Given the description of an element on the screen output the (x, y) to click on. 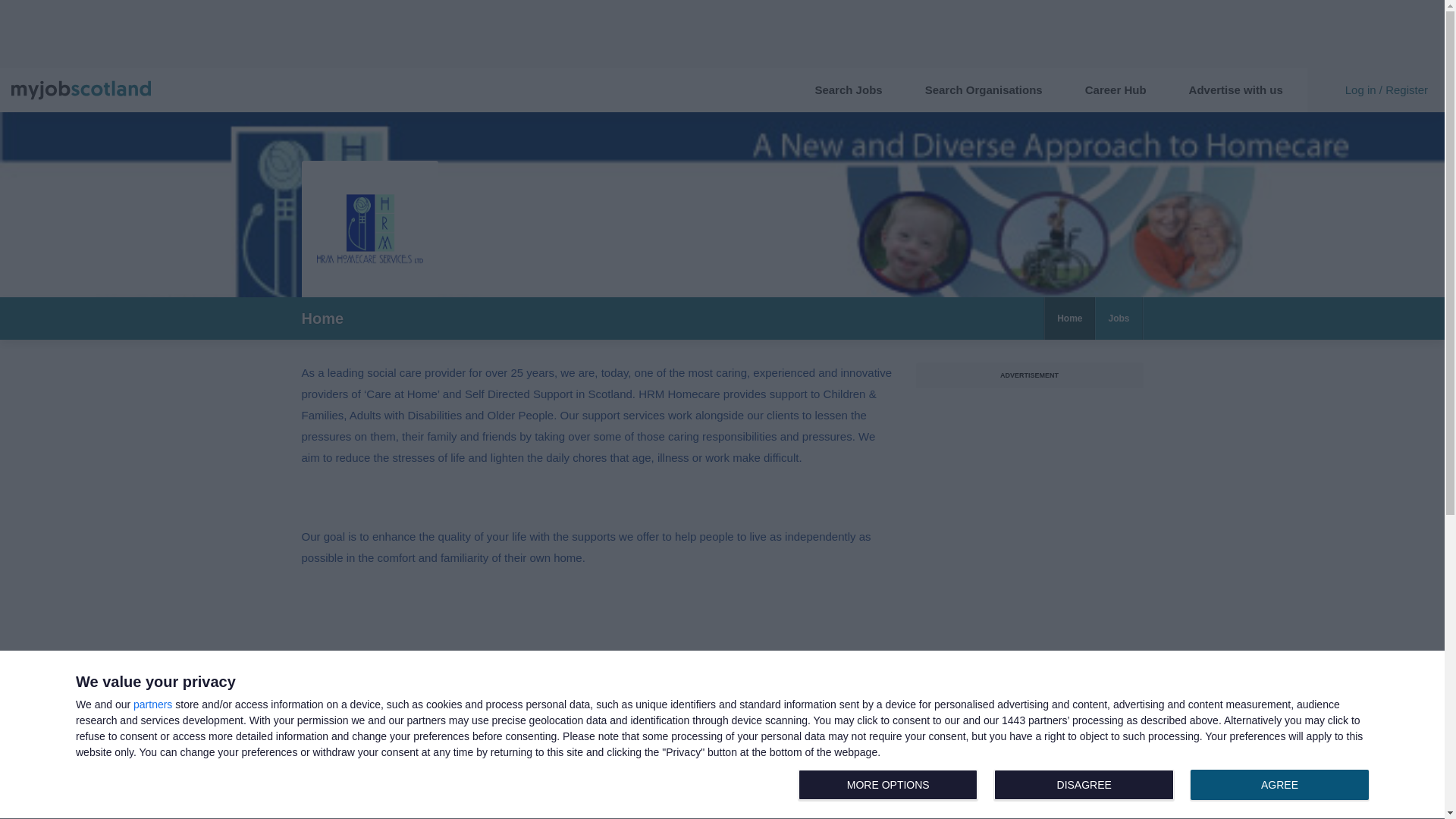
Search Organisations (987, 89)
Jobs (1117, 318)
partners (152, 704)
Search Jobs (850, 89)
DISAGREE (1083, 784)
MORE OPTIONS (886, 784)
AGREE (1086, 785)
Advertise with us (1279, 784)
Click to go to the myjobscotland home page (1238, 89)
Career Hub (81, 90)
Home (1118, 89)
